Given the description of an element on the screen output the (x, y) to click on. 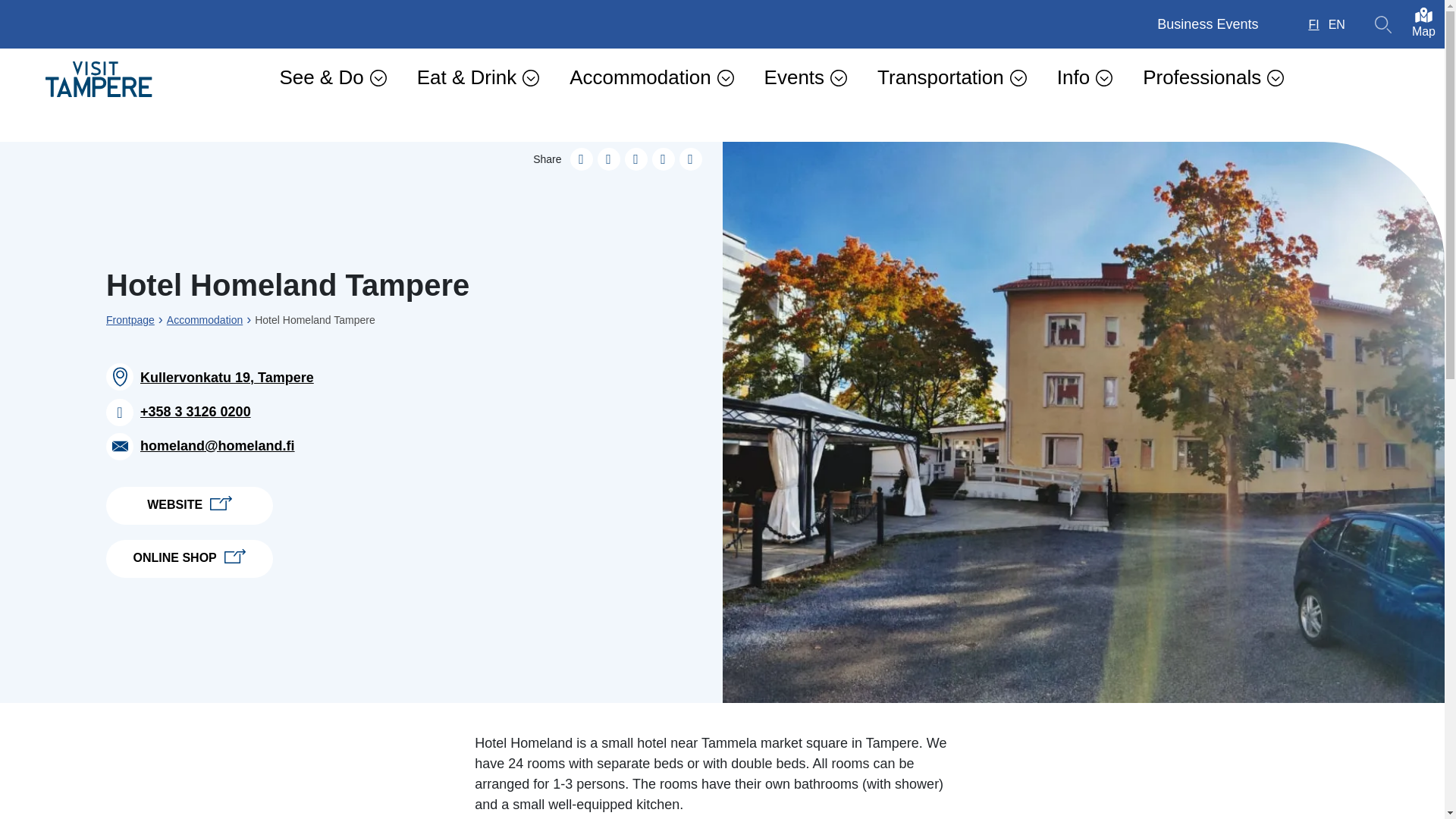
FI (1313, 24)
Search (1383, 23)
Accommodation (651, 76)
EN (1336, 24)
Business Events (1207, 23)
